Given the description of an element on the screen output the (x, y) to click on. 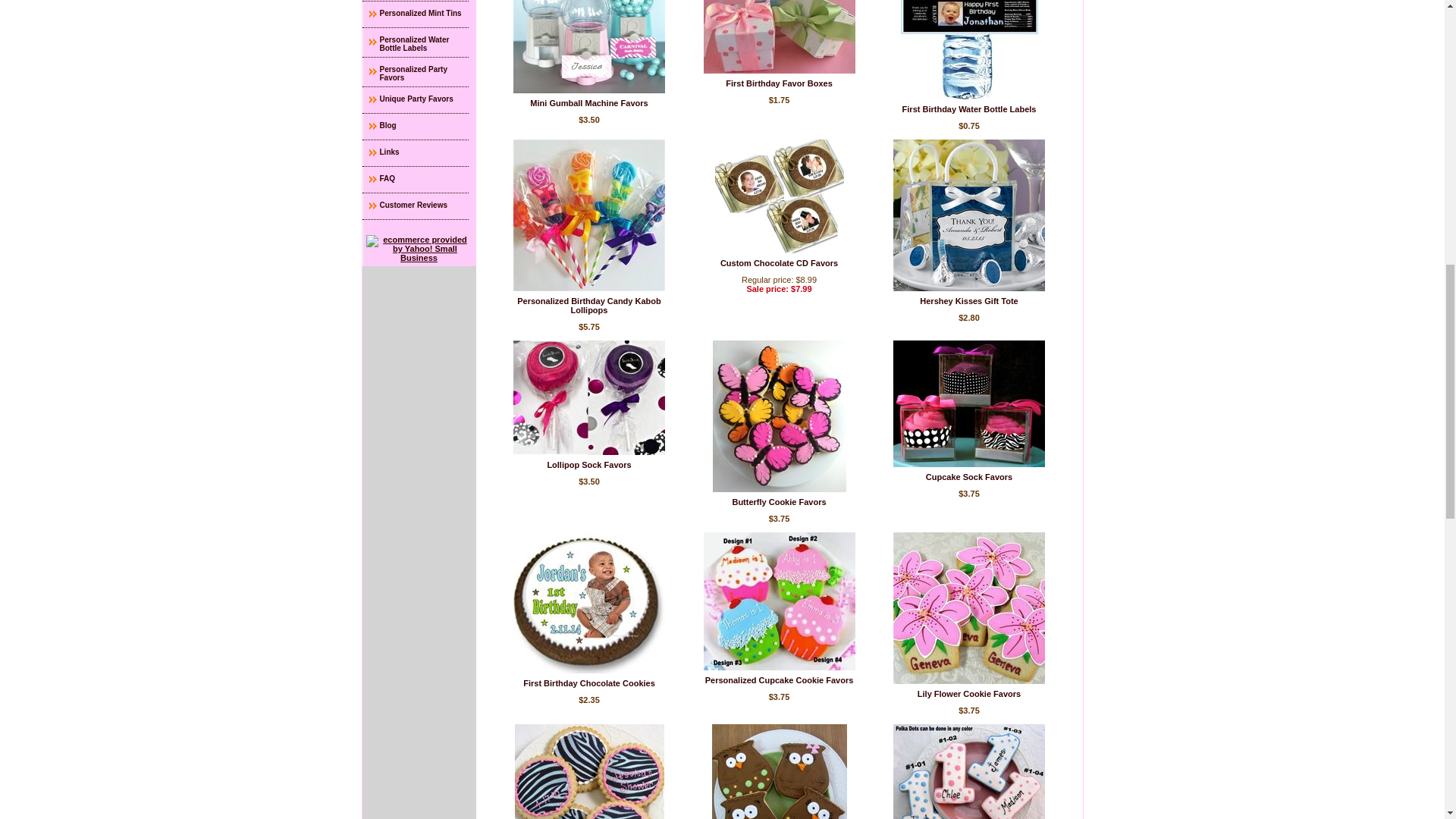
First Birthday Water Bottle Labels (969, 108)
Hershey Kisses Gift Tote (968, 300)
First Birthday Water Bottle Labels (969, 49)
Cupcake Sock Favors (968, 476)
First Birthday Favor Boxes (778, 82)
First Birthday Favor Boxes (779, 36)
Personalized Birthday Candy Kabob Lollipops (588, 305)
Mini Gumball Machine Favors (588, 102)
First Birthday Water Bottle Labels (969, 108)
Mini Gumball Machine Favors (588, 102)
Butterfly Cookie Favors (778, 501)
Custom Chocolate CD Favors (779, 262)
Lollipop Sock Favors (588, 464)
First Birthday Favor Boxes (778, 82)
Mini Gumball Machine Favors (589, 46)
